Given the description of an element on the screen output the (x, y) to click on. 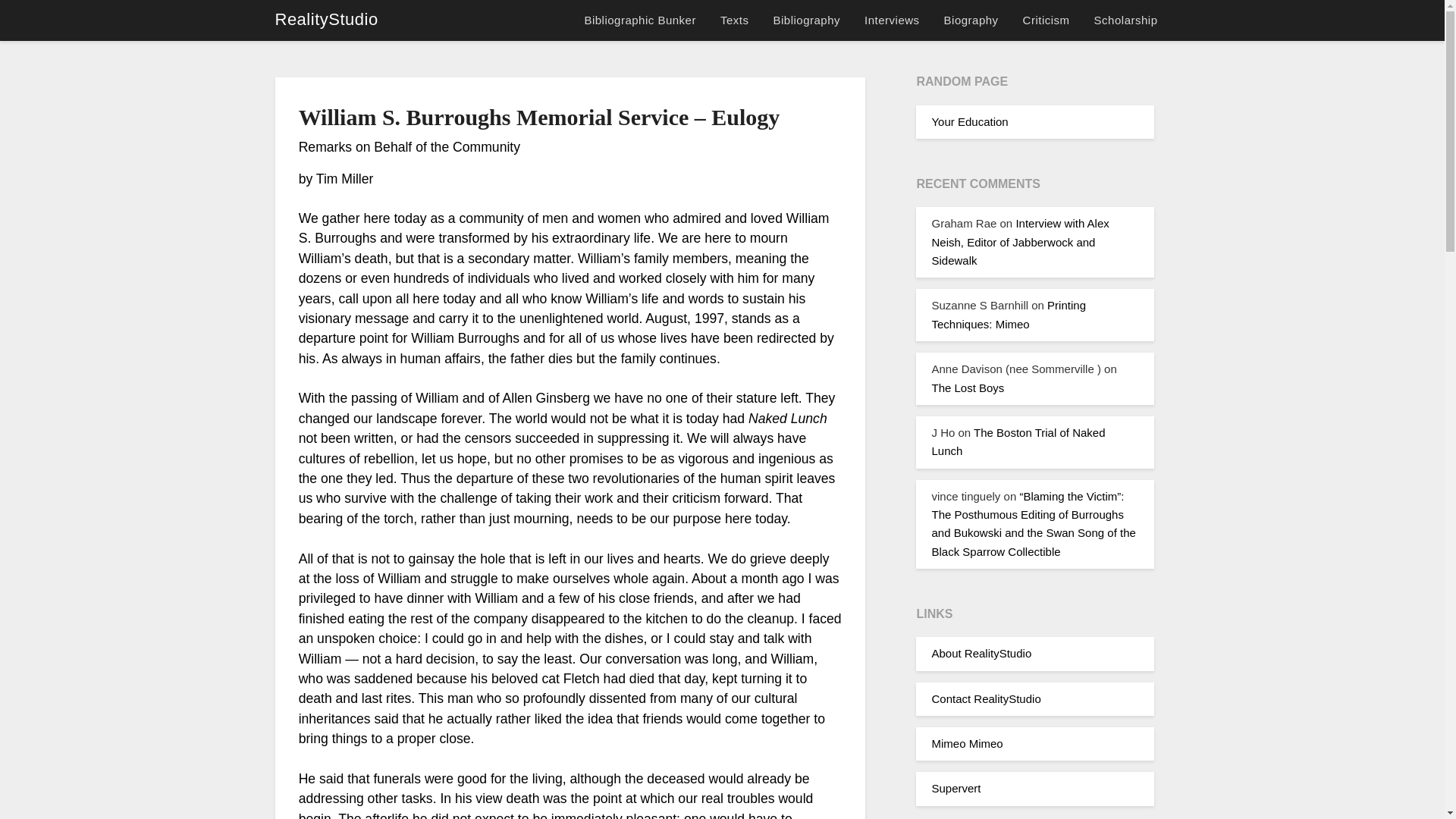
About RealityStudio (980, 653)
Your Education (969, 121)
RealityStudio (326, 19)
The Lost Boys (967, 386)
Criticism (1045, 20)
Bibliographic Bunker (645, 20)
Search (38, 22)
Printing Techniques: Mimeo (1007, 314)
Texts (734, 20)
Contact RealityStudio (986, 697)
Supervert (955, 788)
Scholarship (1125, 20)
Interview with Alex Neish, Editor of Jabberwock and Sidewalk (1019, 241)
Mimeo Mimeo (967, 743)
The Boston Trial of Naked Lunch (1018, 441)
